Given the description of an element on the screen output the (x, y) to click on. 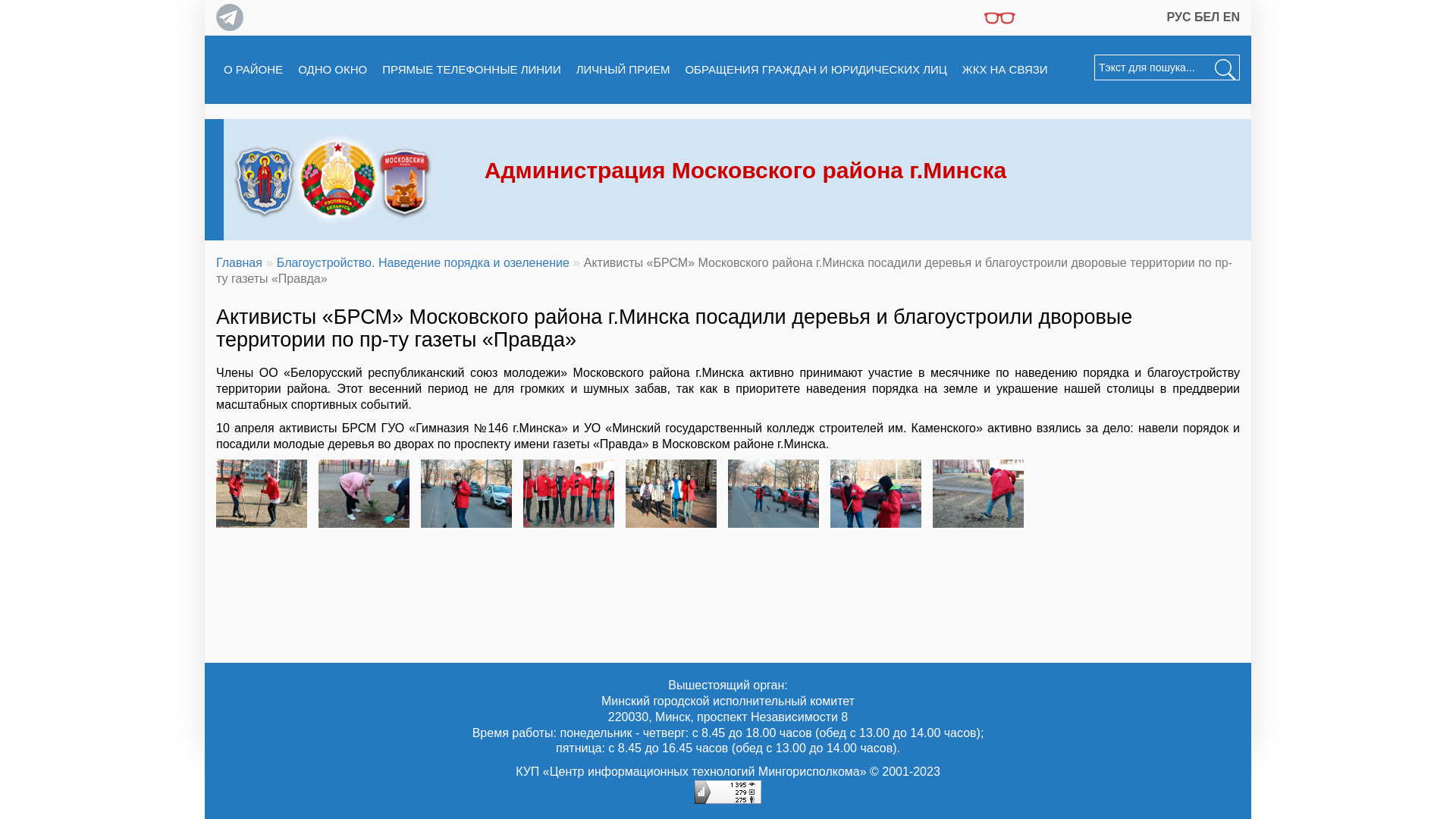
EN Element type: text (1231, 16)
